Given the description of an element on the screen output the (x, y) to click on. 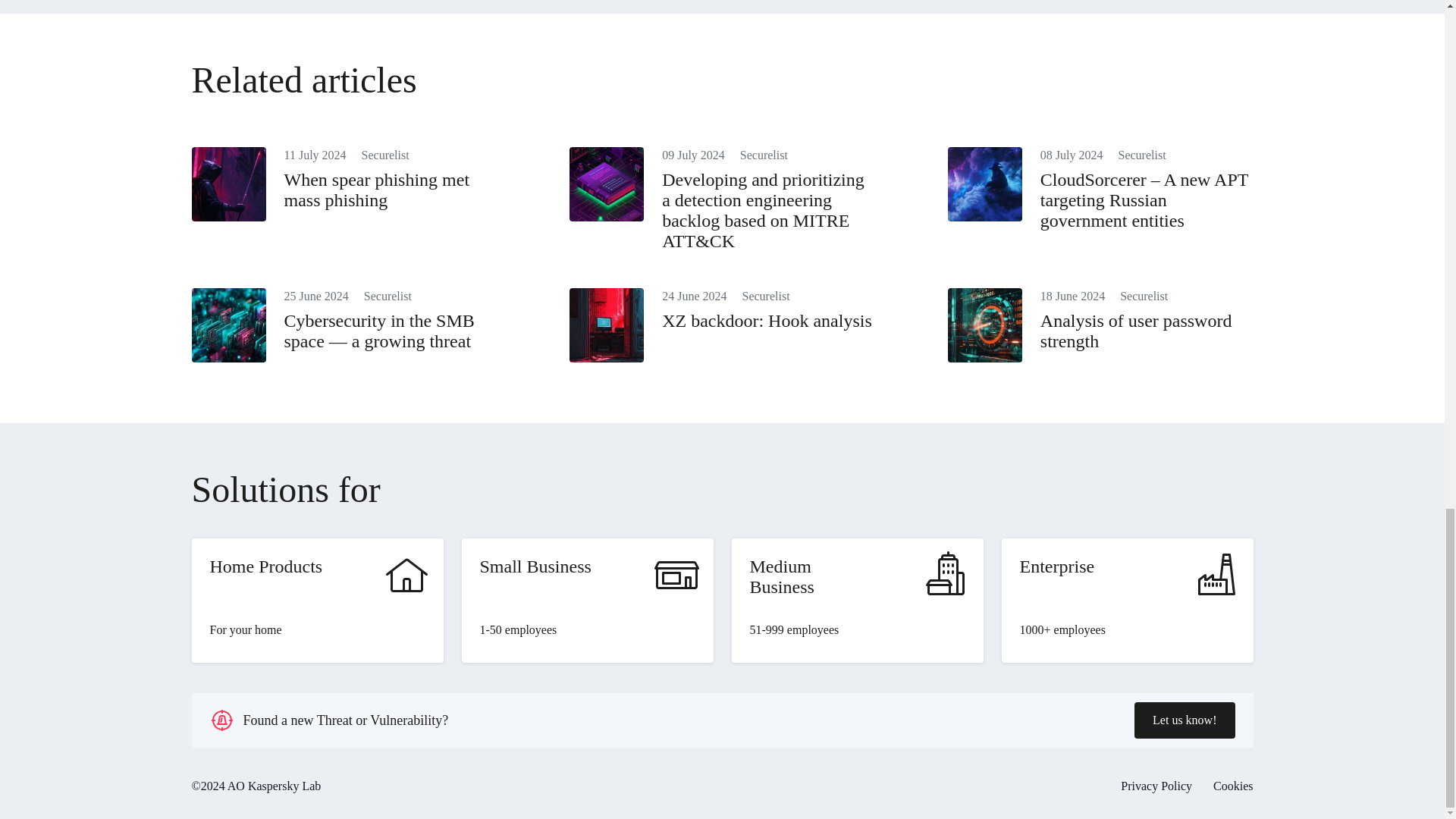
When spear phishing met mass phishing (375, 189)
Cookies (1232, 786)
Privacy Policy (1156, 786)
Analysis of user password strength (1136, 331)
XZ backdoor: Hook analysis (767, 320)
